Given the description of an element on the screen output the (x, y) to click on. 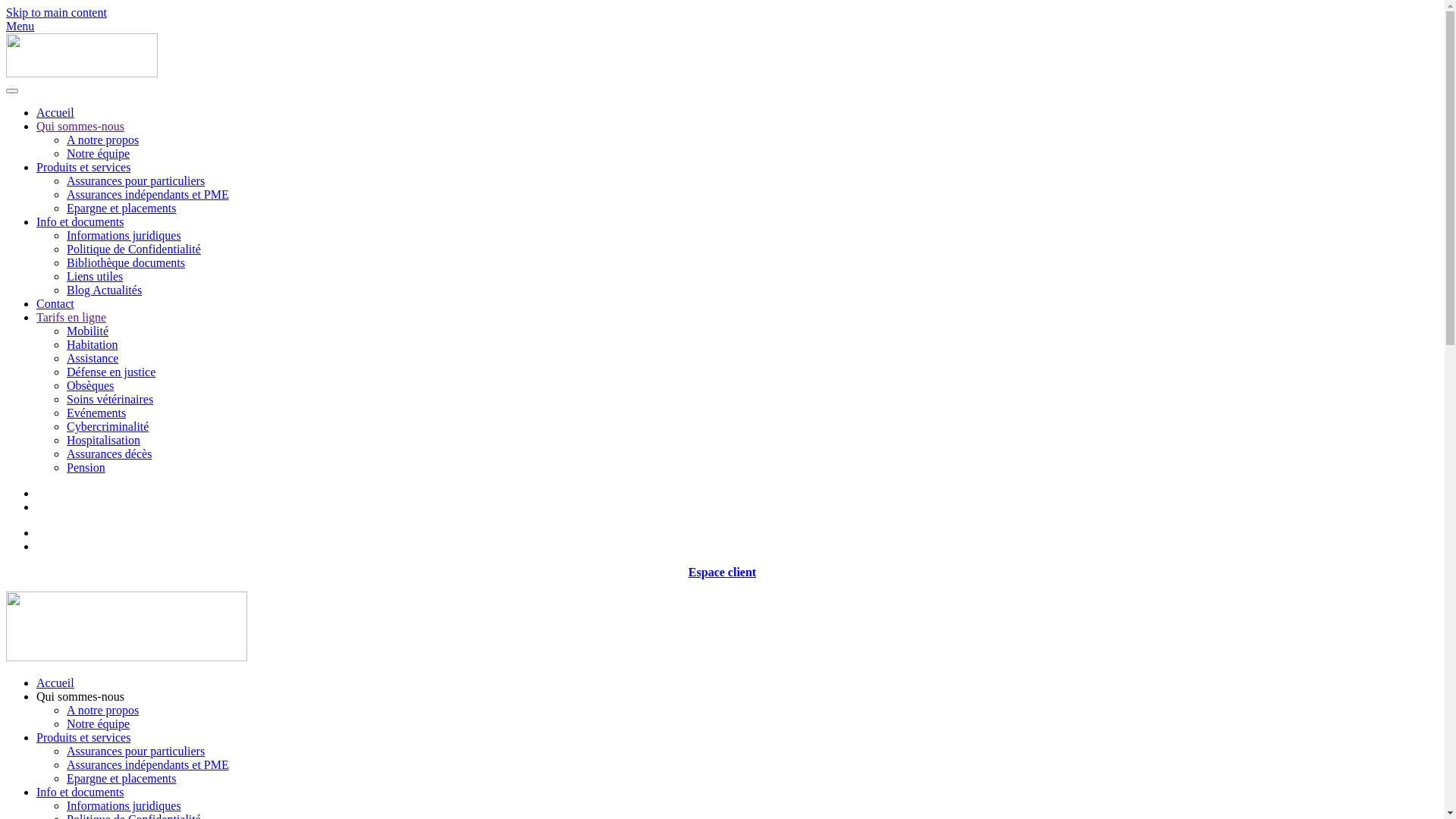
Liens utiles Element type: text (94, 275)
Espace client Element type: text (722, 571)
Accueil Element type: text (55, 112)
Epargne et placements Element type: text (121, 777)
Qui sommes-nous Element type: text (80, 125)
Assistance Element type: text (92, 357)
Habitation Element type: text (92, 344)
Produits et services Element type: text (83, 737)
Info et documents Element type: text (80, 791)
Informations juridiques Element type: text (123, 235)
A notre propos Element type: text (102, 139)
Info et documents Element type: text (80, 221)
Assurances pour particuliers Element type: text (135, 750)
A notre propos Element type: text (102, 709)
Informations juridiques Element type: text (123, 805)
Accueil Element type: text (55, 682)
Epargne et placements Element type: text (121, 207)
Hospitalisation Element type: text (103, 439)
Menu Element type: text (722, 25)
Assurances pour particuliers Element type: text (135, 180)
Skip to main content Element type: text (56, 12)
Tarifs en ligne Element type: text (71, 316)
Qui sommes-nous Element type: text (80, 696)
Contact Element type: text (55, 303)
Produits et services Element type: text (83, 166)
Pension Element type: text (85, 467)
